Given the description of an element on the screen output the (x, y) to click on. 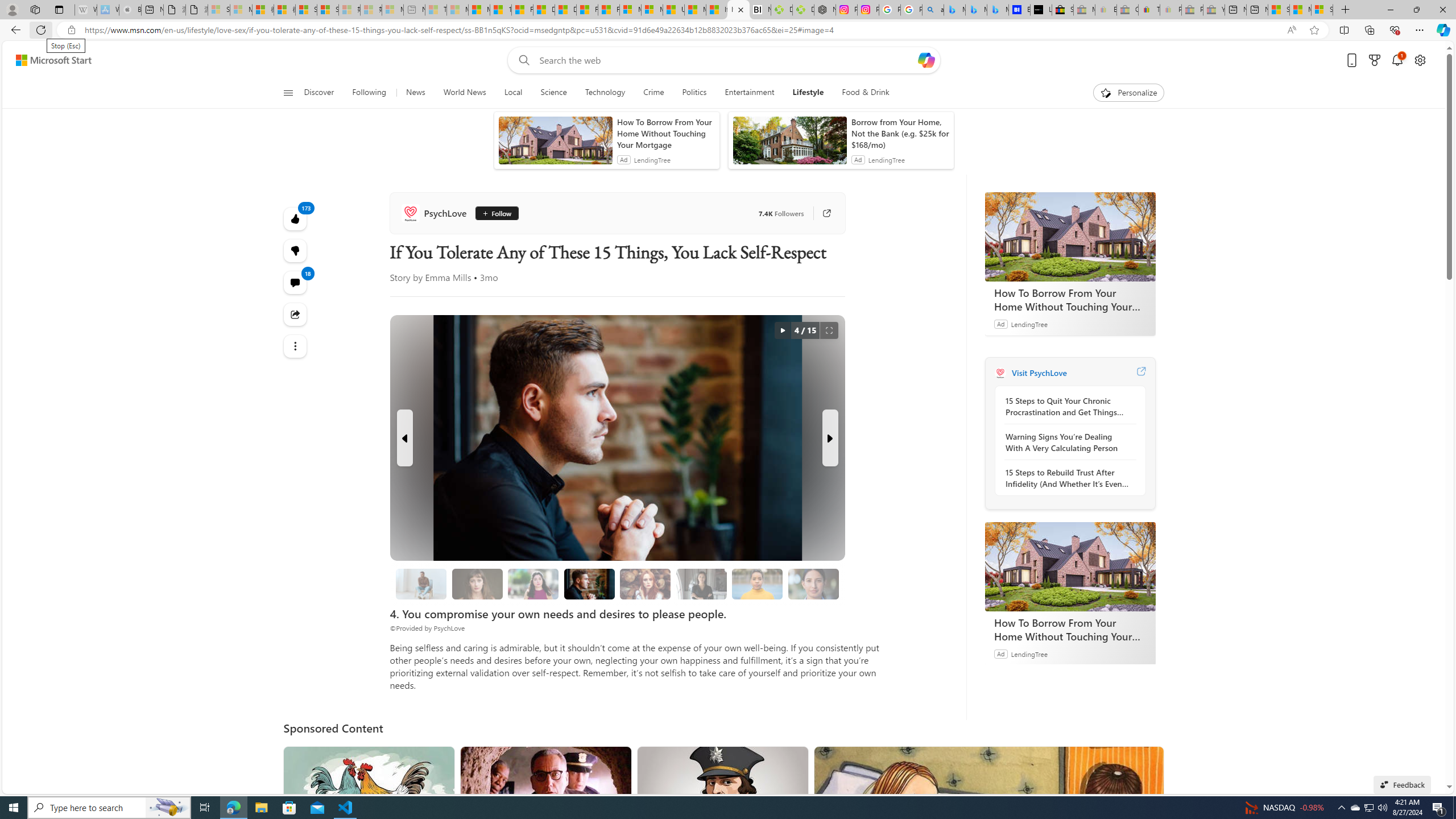
Next Slide (829, 437)
Buy iPad - Apple - Sleeping (130, 9)
LendingTree (1029, 653)
Microsoft Bing Travel - Flights from Hong Kong to Bangkok (954, 9)
